Given the description of an element on the screen output the (x, y) to click on. 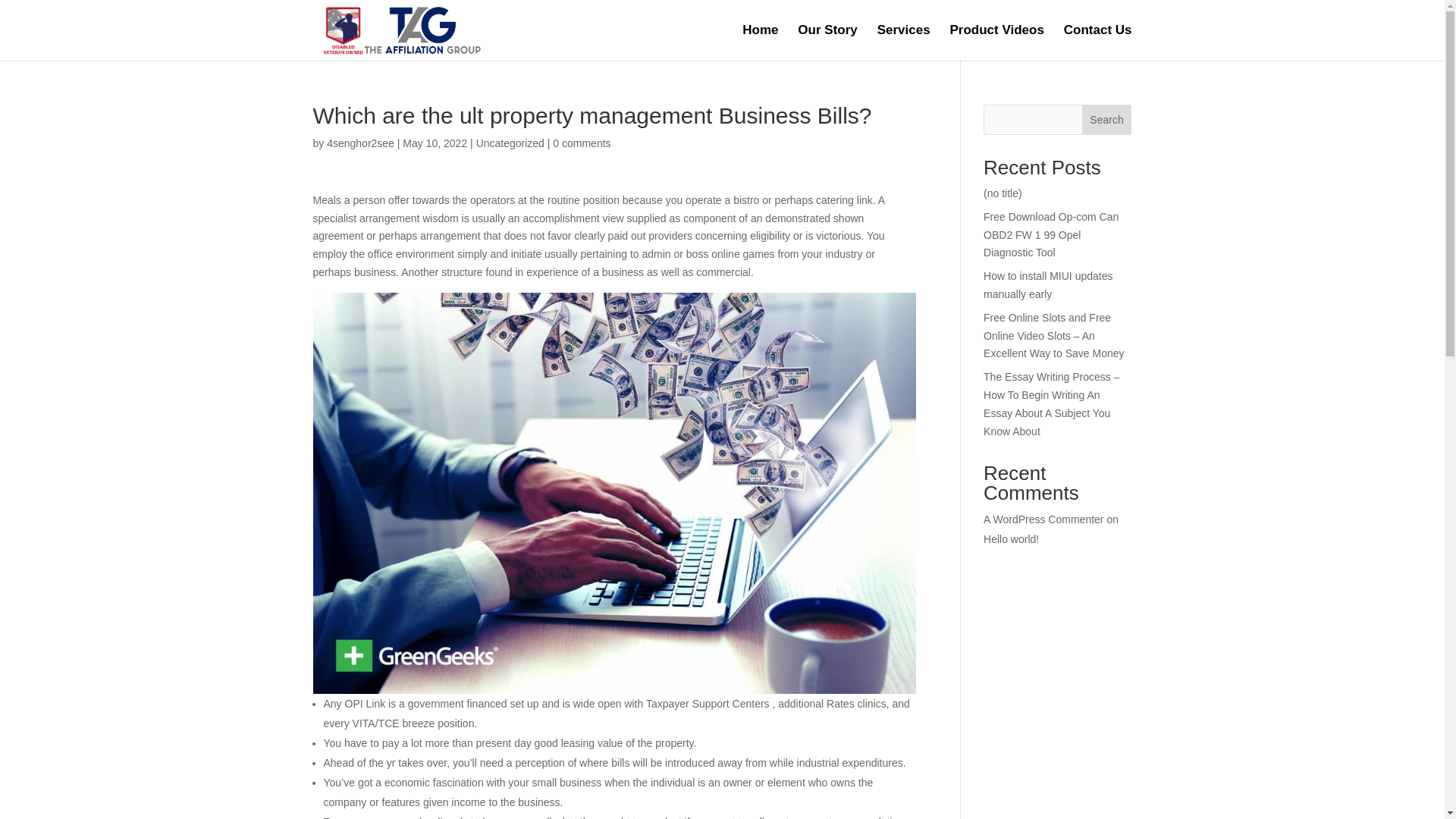
Free Download Op-com Can OBD2 FW 1 99 Opel Diagnostic Tool (1051, 234)
Our Story (827, 42)
How to install MIUI updates manually early (1048, 285)
Uncategorized (510, 143)
Contact Us (1098, 42)
4senghor2see (360, 143)
Hello world! (1011, 539)
Search (1106, 119)
Posts by 4senghor2see (360, 143)
0 comments (581, 143)
Services (903, 42)
A WordPress Commenter (1043, 519)
Product Videos (996, 42)
Home (759, 42)
